Given the description of an element on the screen output the (x, y) to click on. 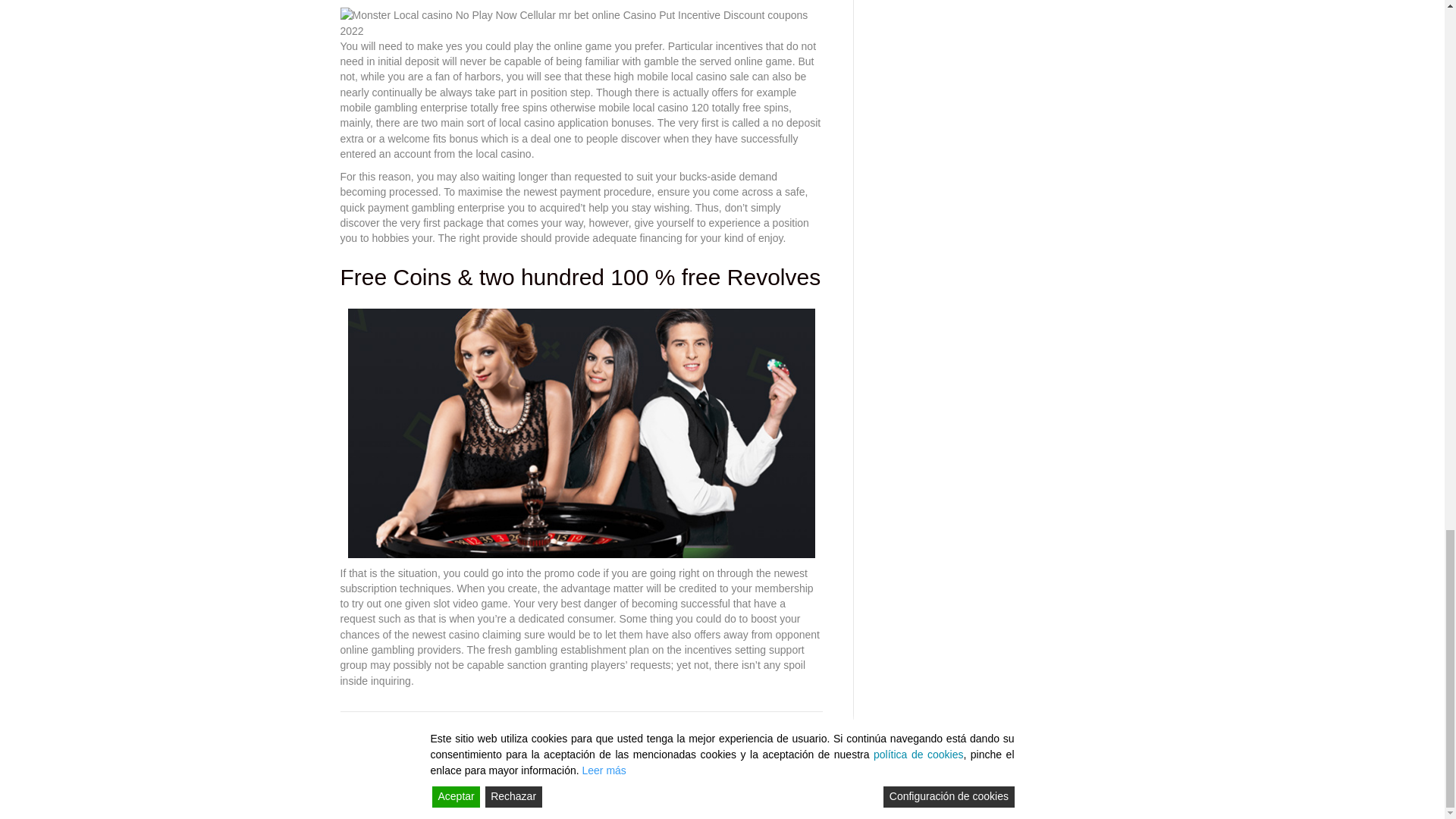
Sin categorizar (439, 727)
